Given the description of an element on the screen output the (x, y) to click on. 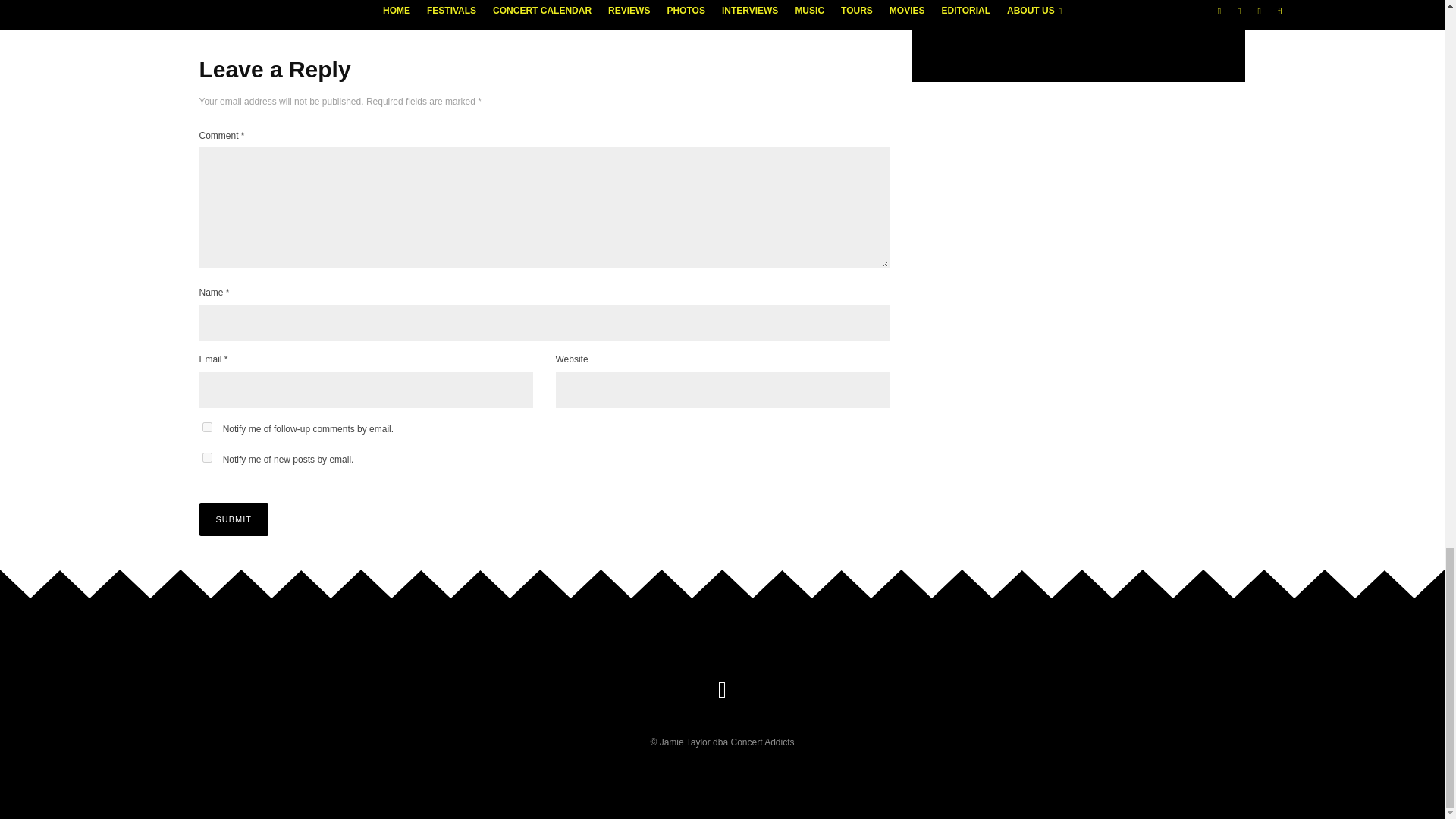
Submit (232, 519)
subscribe (206, 427)
subscribe (206, 457)
